Given the description of an element on the screen output the (x, y) to click on. 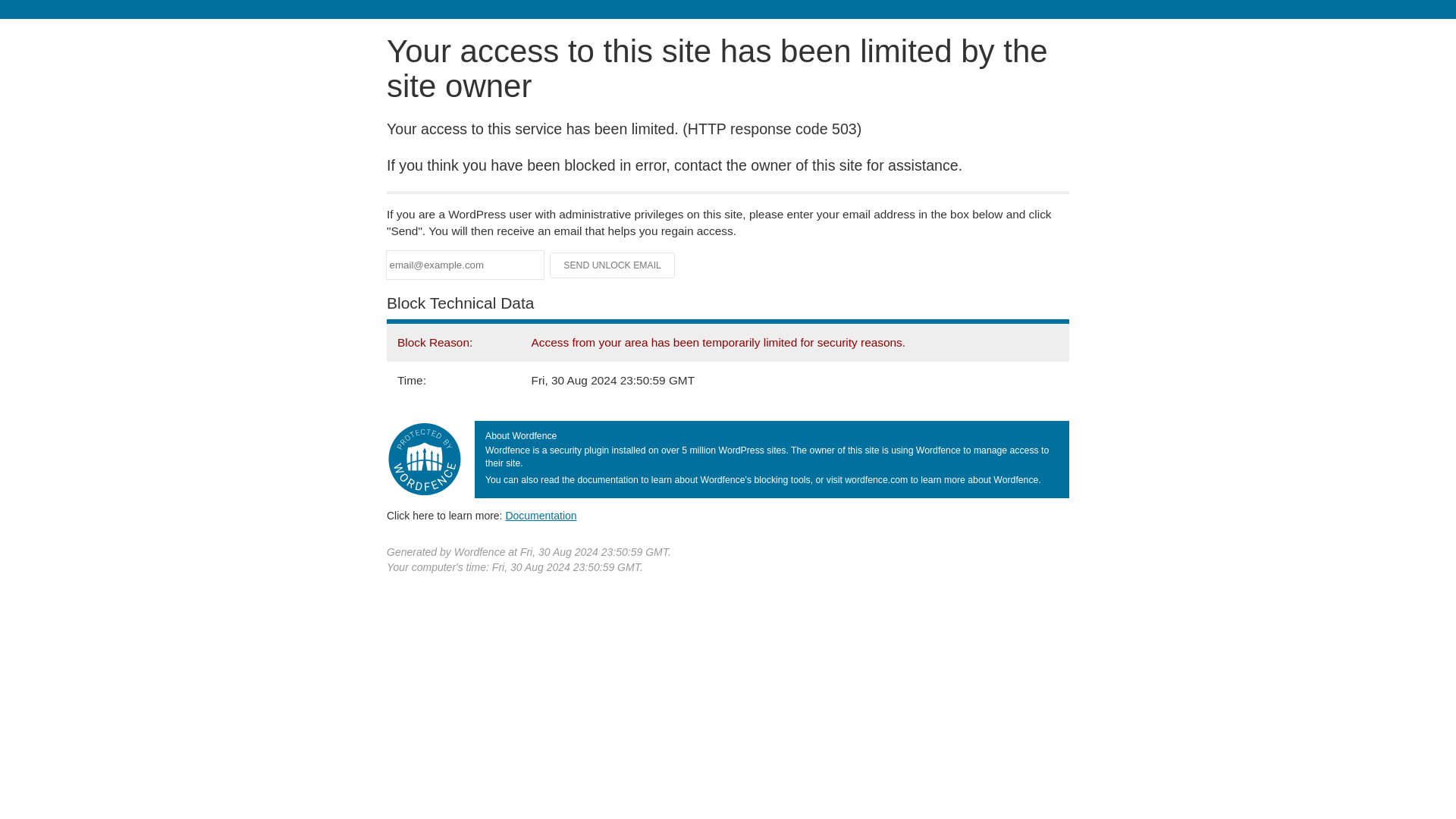
Documentation (540, 515)
Send Unlock Email (612, 265)
Send Unlock Email (612, 265)
